Given the description of an element on the screen output the (x, y) to click on. 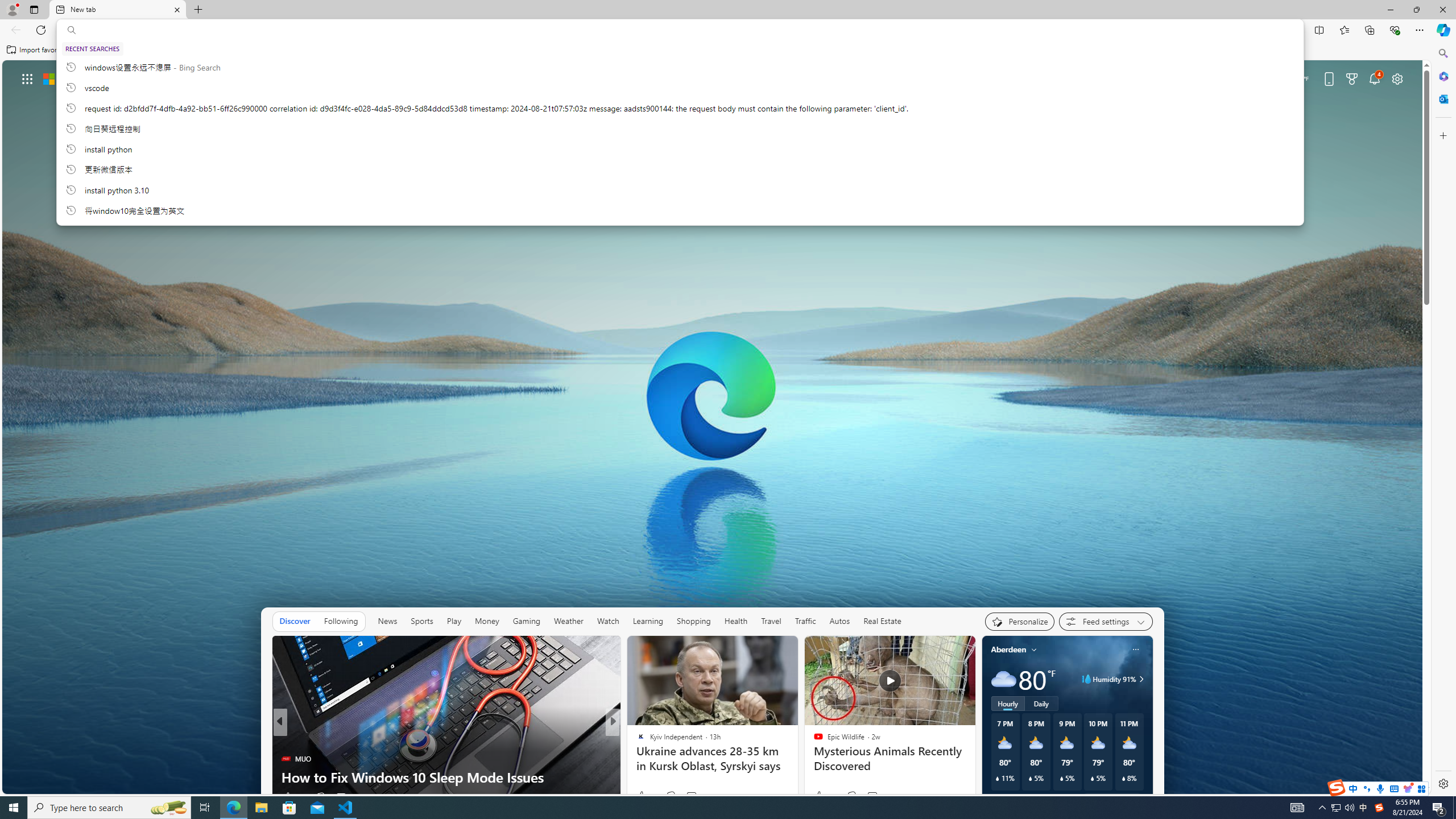
Traffic (804, 621)
Cloudy (1003, 678)
Play (454, 621)
Steve Ronin (635, 740)
View comments 31 Comment (696, 796)
Remains of two WWI infantrymen found on Marmolada (796, 767)
vscode, recent searches from history (679, 86)
